Given the description of an element on the screen output the (x, y) to click on. 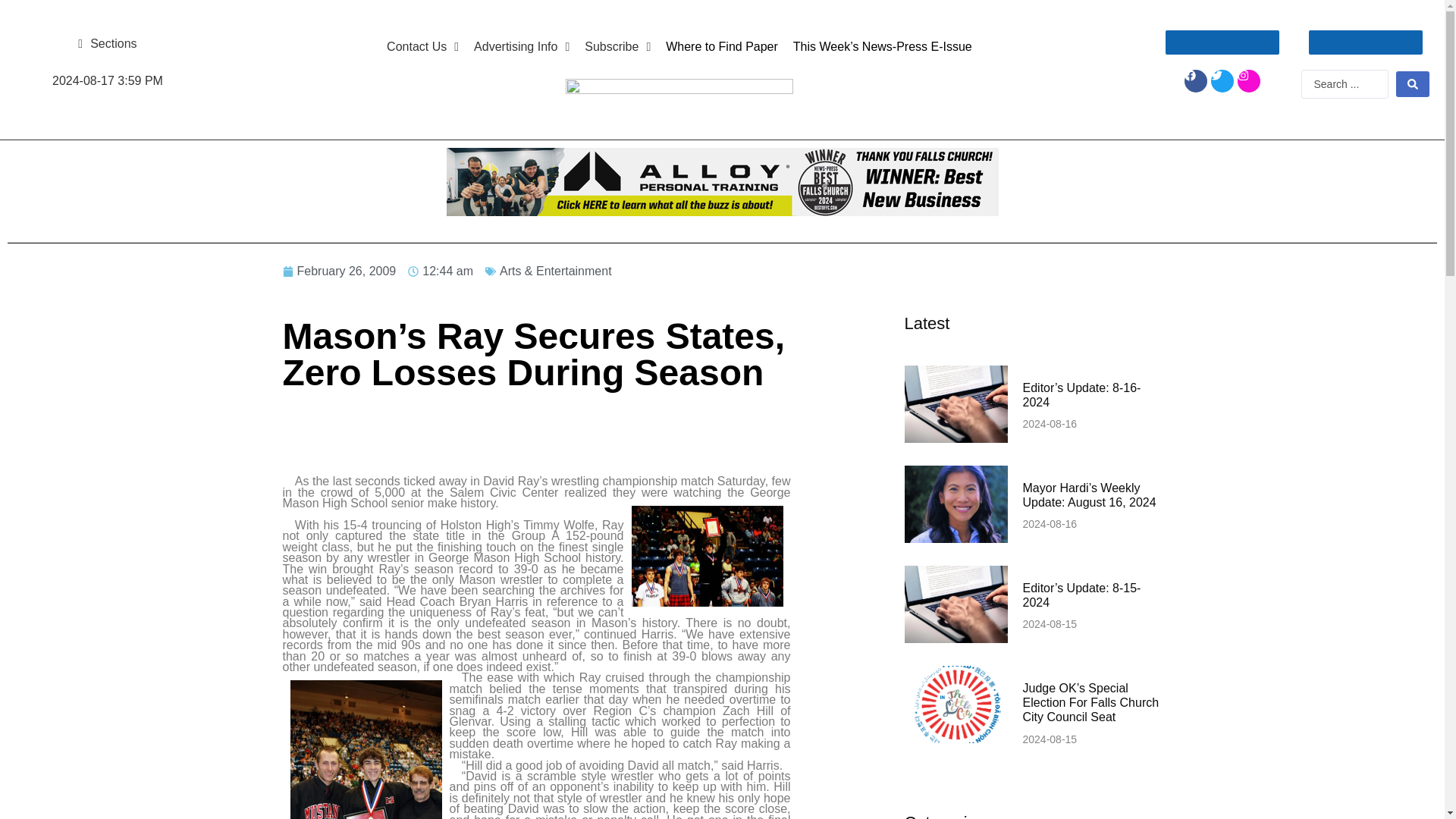
Contact Us (421, 46)
February 26, 2009 (339, 271)
Where to Find Paper (722, 46)
Advertising Info (520, 46)
Subscribe (617, 46)
